Given the description of an element on the screen output the (x, y) to click on. 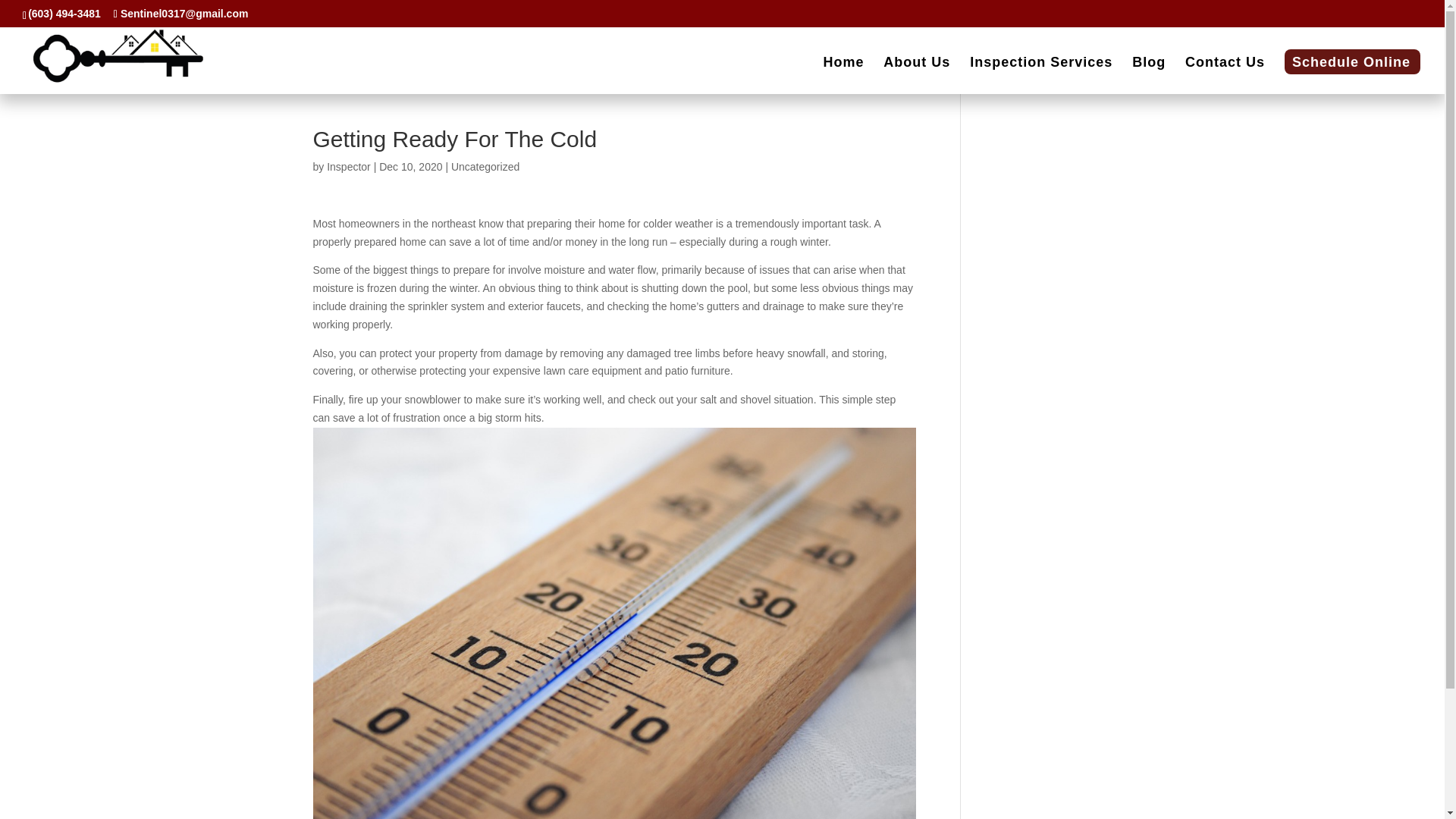
Inspector (348, 166)
Schedule Online (1351, 75)
Contact Us (1225, 75)
Home (842, 75)
About Us (916, 75)
Blog (1149, 75)
Inspection Services (1040, 75)
Uncategorized (485, 166)
Posts by Inspector (348, 166)
